Given the description of an element on the screen output the (x, y) to click on. 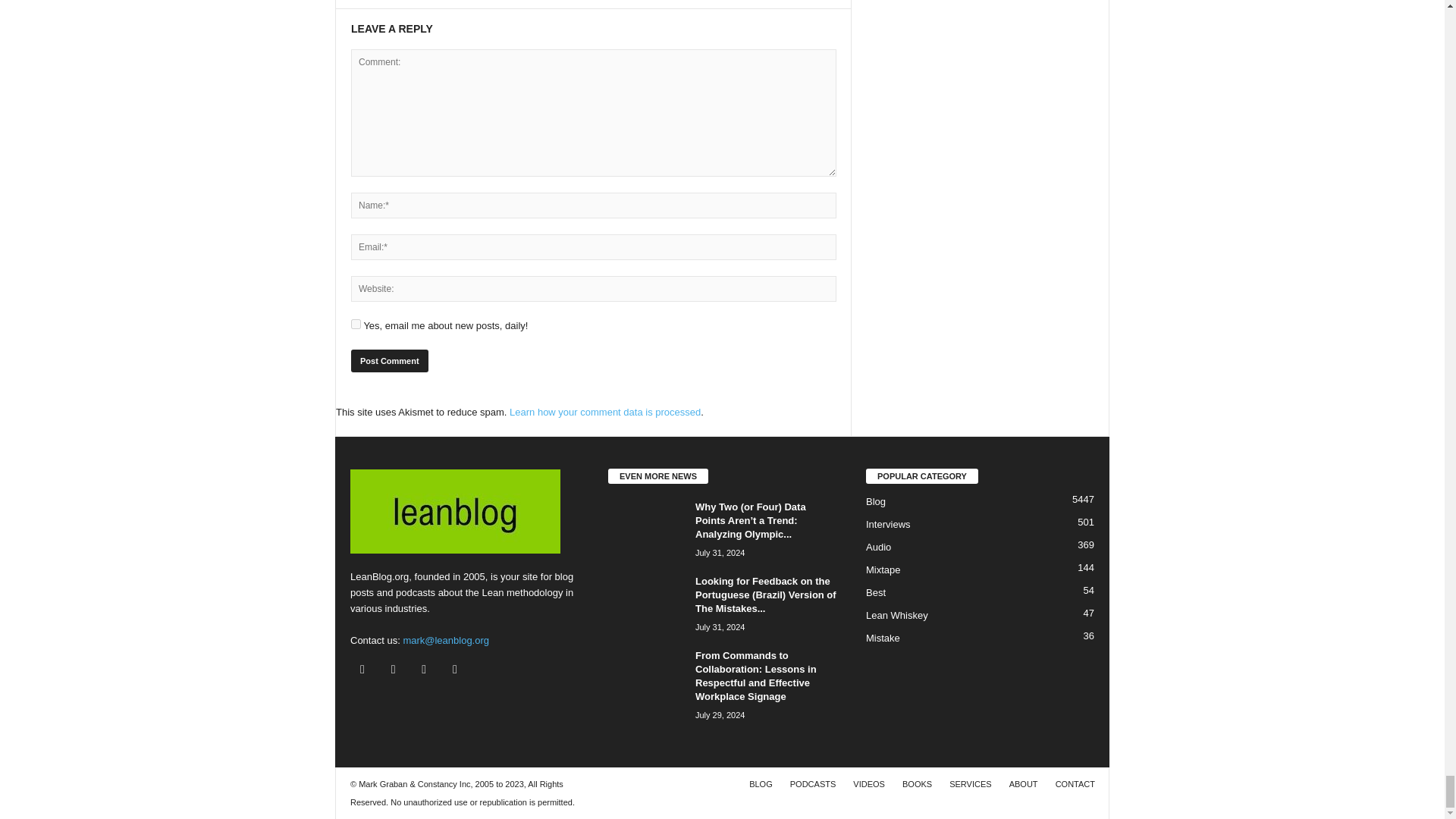
Post Comment (389, 360)
1 (355, 324)
